Given the description of an element on the screen output the (x, y) to click on. 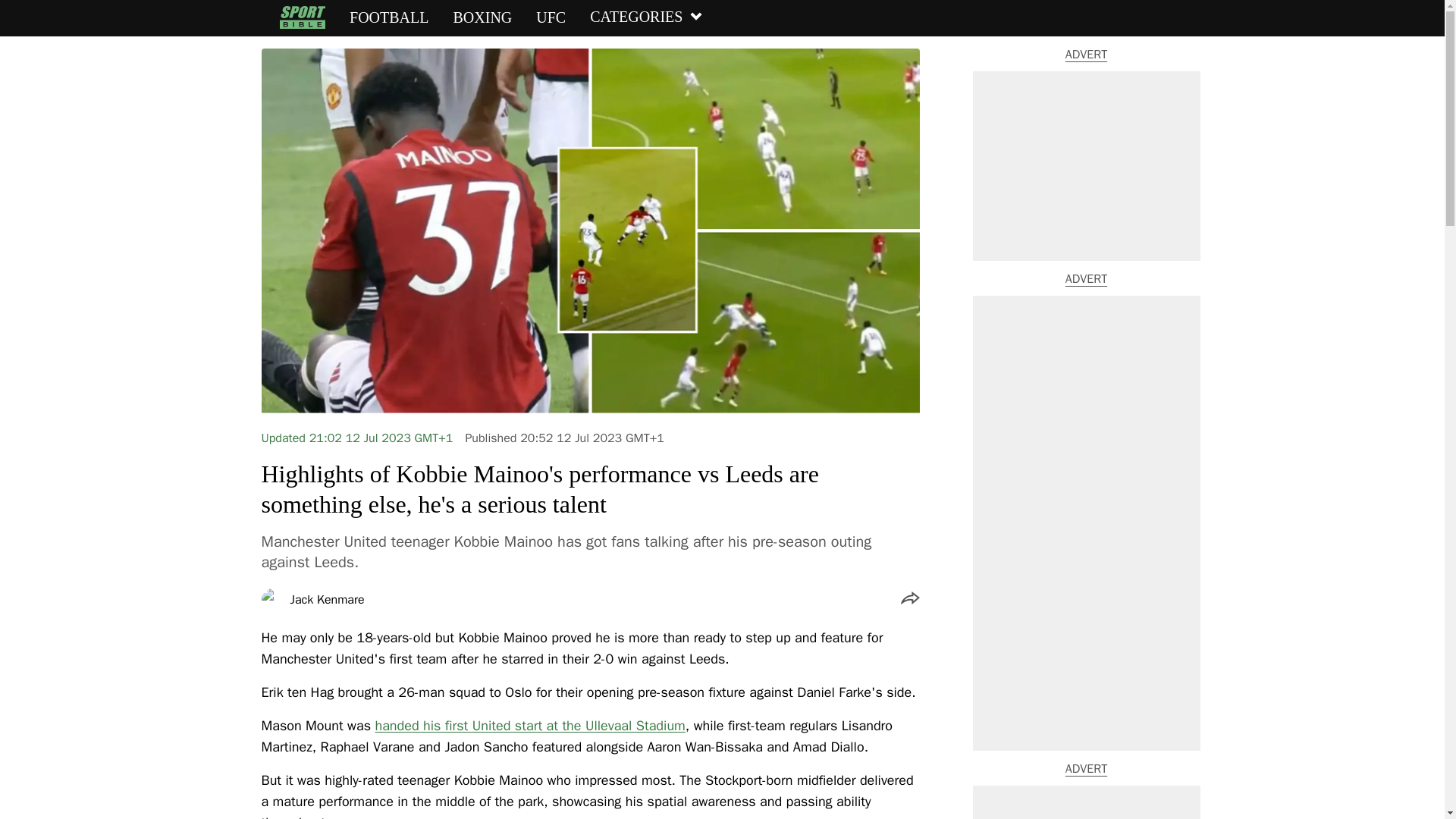
BOXING (482, 17)
UFC (550, 17)
FOOTBALL (388, 17)
